Given the description of an element on the screen output the (x, y) to click on. 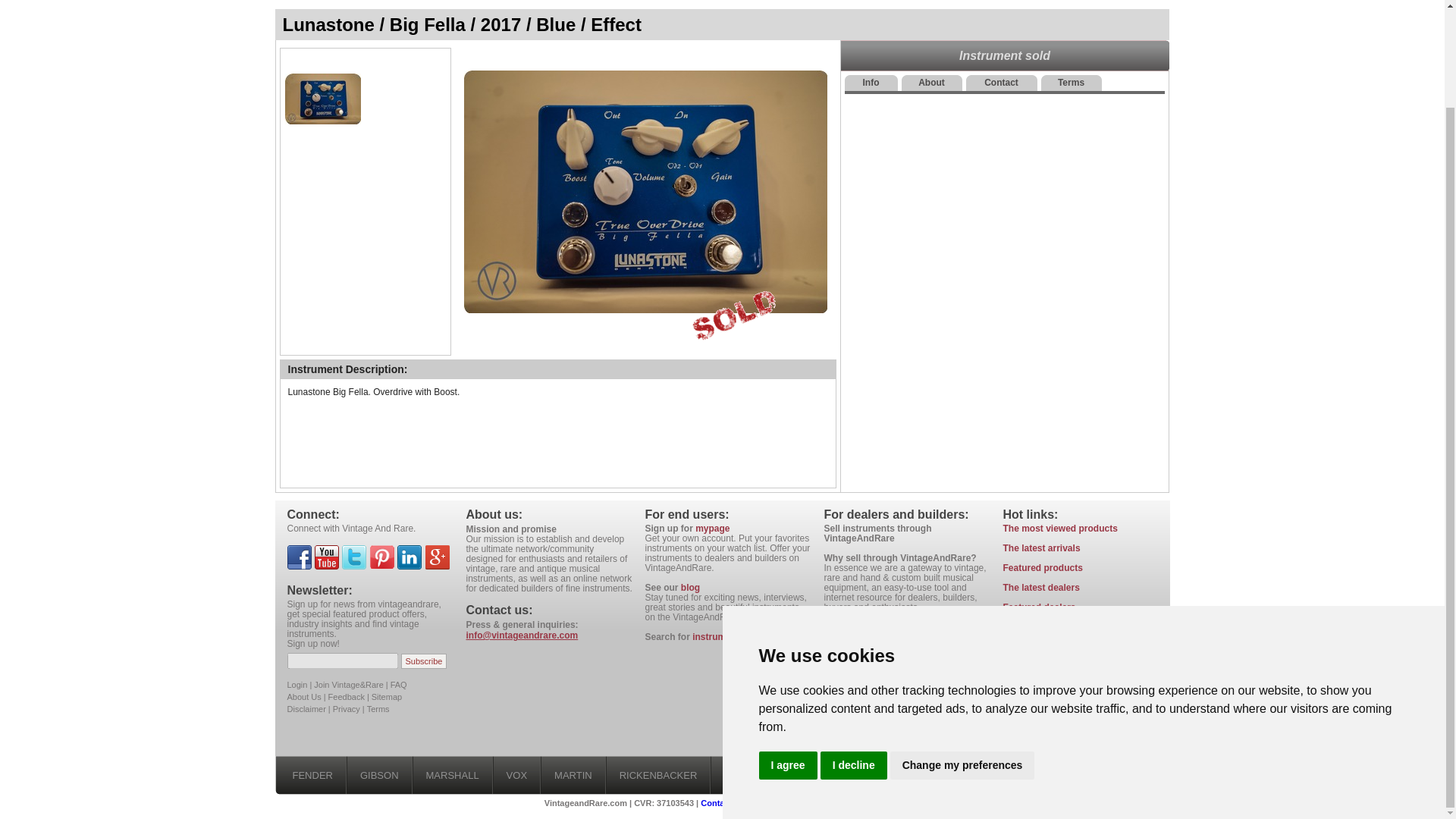
Subscribe (423, 660)
Info (871, 82)
Terms (1070, 82)
Lunastone-Big Fella-2017-Blue (322, 97)
Lunastone-Big Fella-2017-Blue (645, 191)
Login (296, 684)
Contact (1001, 82)
Change my preferences (962, 652)
I agree (787, 652)
About (930, 82)
1 (322, 97)
Instrument Description: (347, 369)
I decline (853, 652)
